Given the description of an element on the screen output the (x, y) to click on. 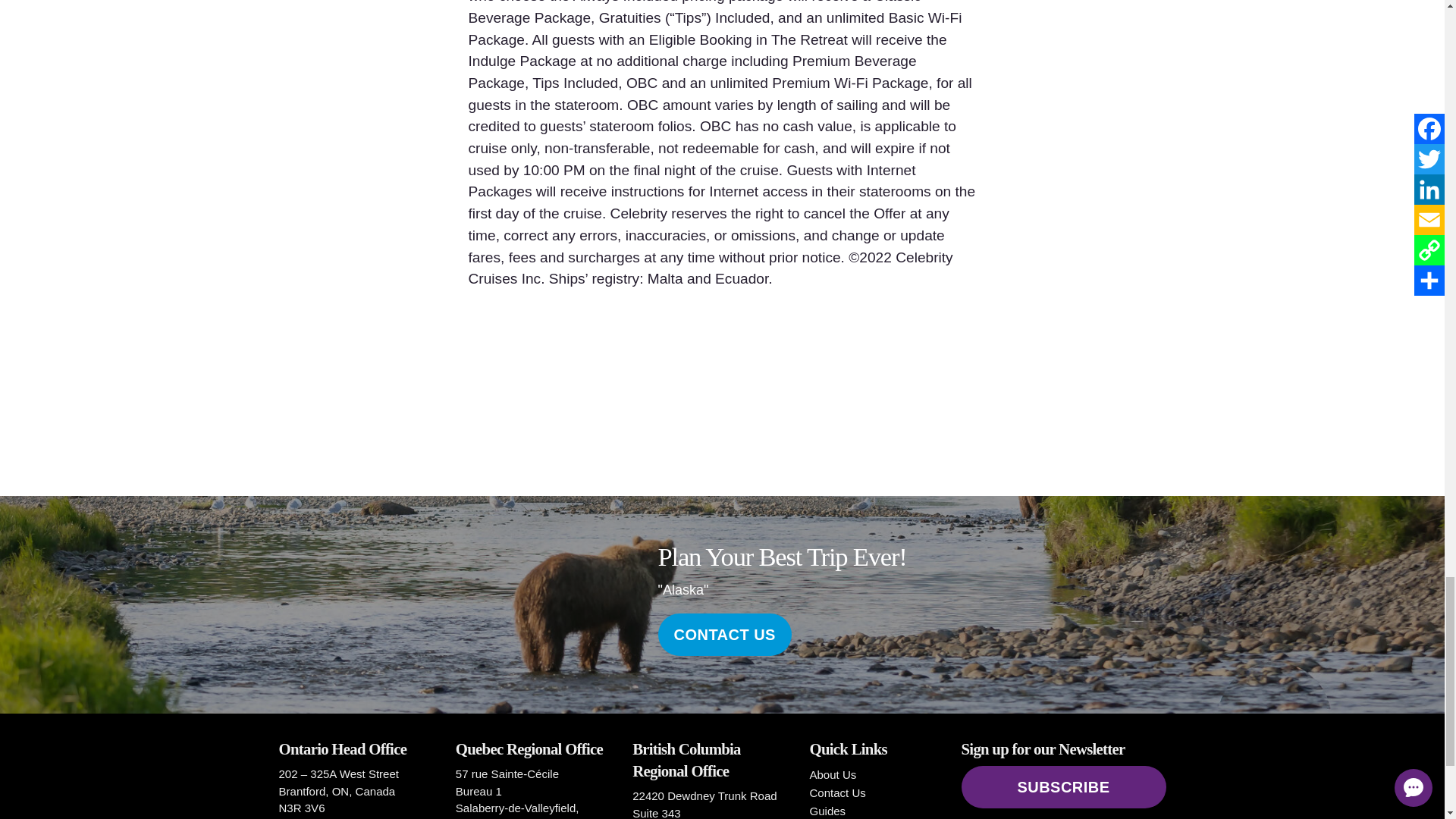
CONTACT US (725, 634)
Guides (827, 810)
Contact Us (836, 792)
About Us (832, 774)
